Given the description of an element on the screen output the (x, y) to click on. 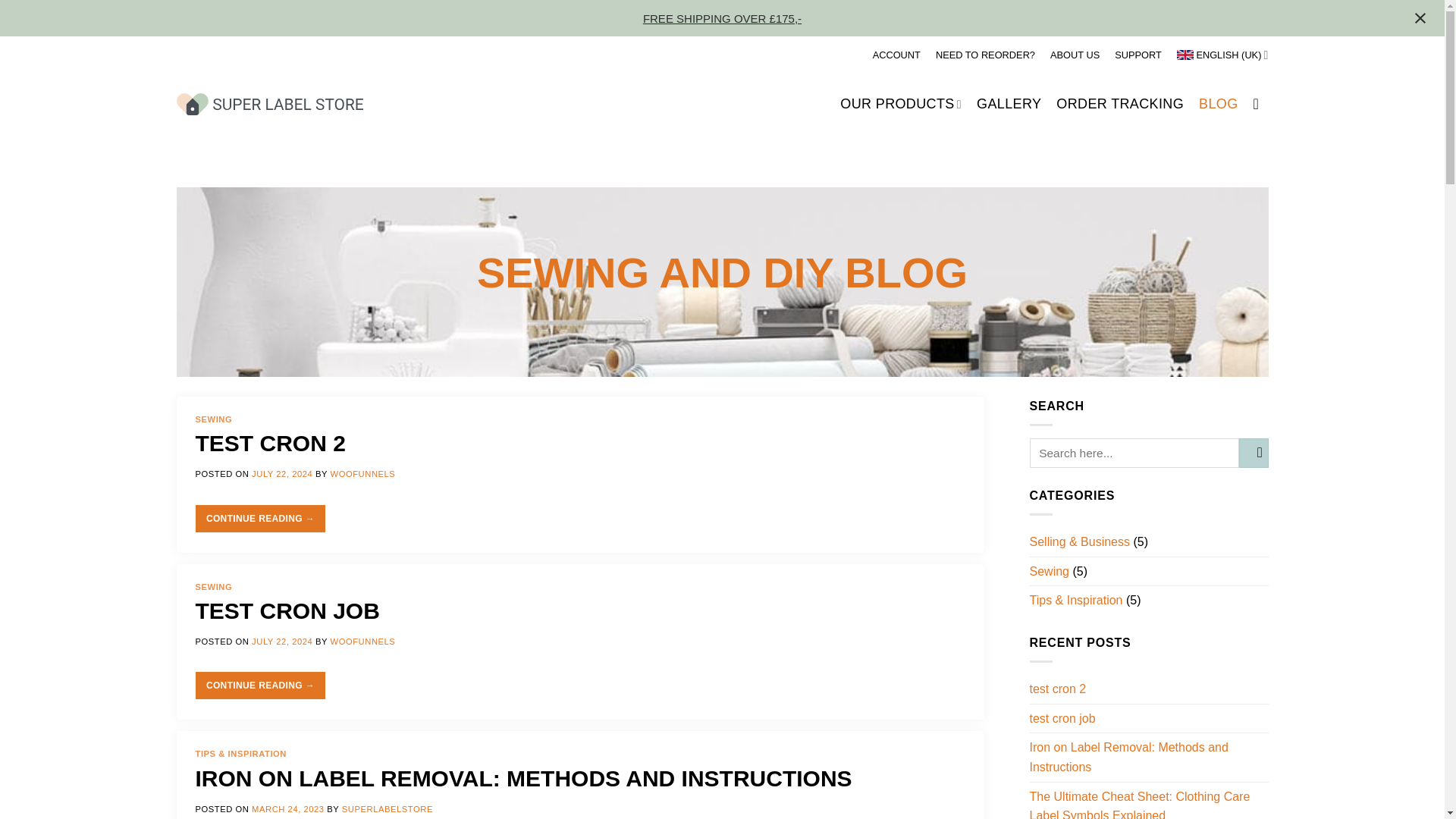
TEST CRON 2 (270, 442)
WOOFUNNELS (363, 641)
NEED TO REORDER? (985, 55)
Superlabelstore UK (269, 104)
SEWING (213, 419)
TEST CRON JOB (287, 610)
BLOG (1217, 103)
ORDER TRACKING (1120, 103)
ACCOUNT (896, 55)
SEWING (213, 586)
